Given the description of an element on the screen output the (x, y) to click on. 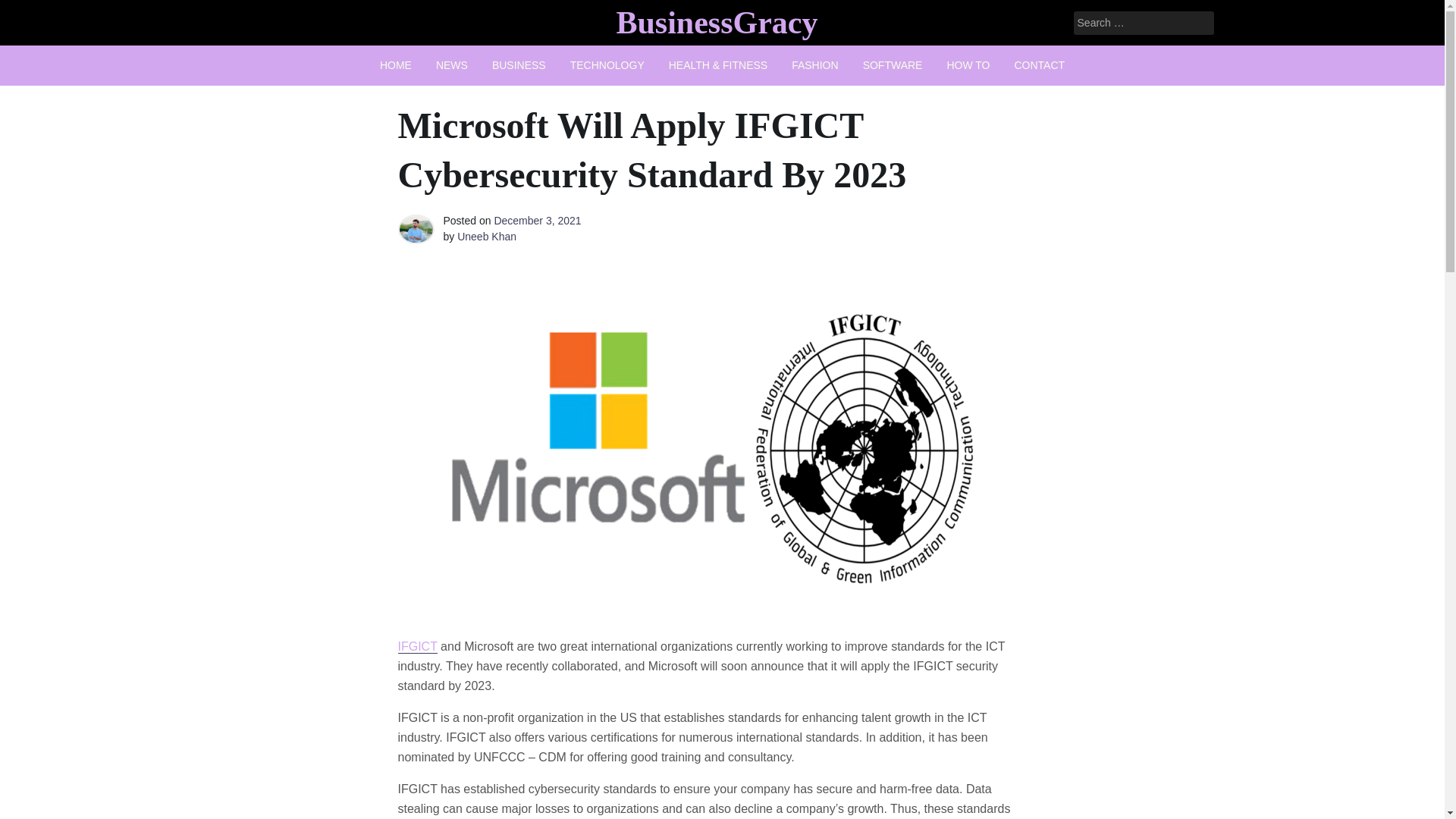
BusinessGracy (715, 22)
HOME (395, 65)
December 3, 2021 (536, 220)
HOW TO (967, 65)
TECHNOLOGY (606, 65)
CONTACT (1039, 65)
SOFTWARE (892, 65)
FASHION (814, 65)
IFGICT (416, 646)
Uneeb Khan (486, 236)
Search (32, 12)
BUSINESS (518, 65)
NEWS (451, 65)
